Given the description of an element on the screen output the (x, y) to click on. 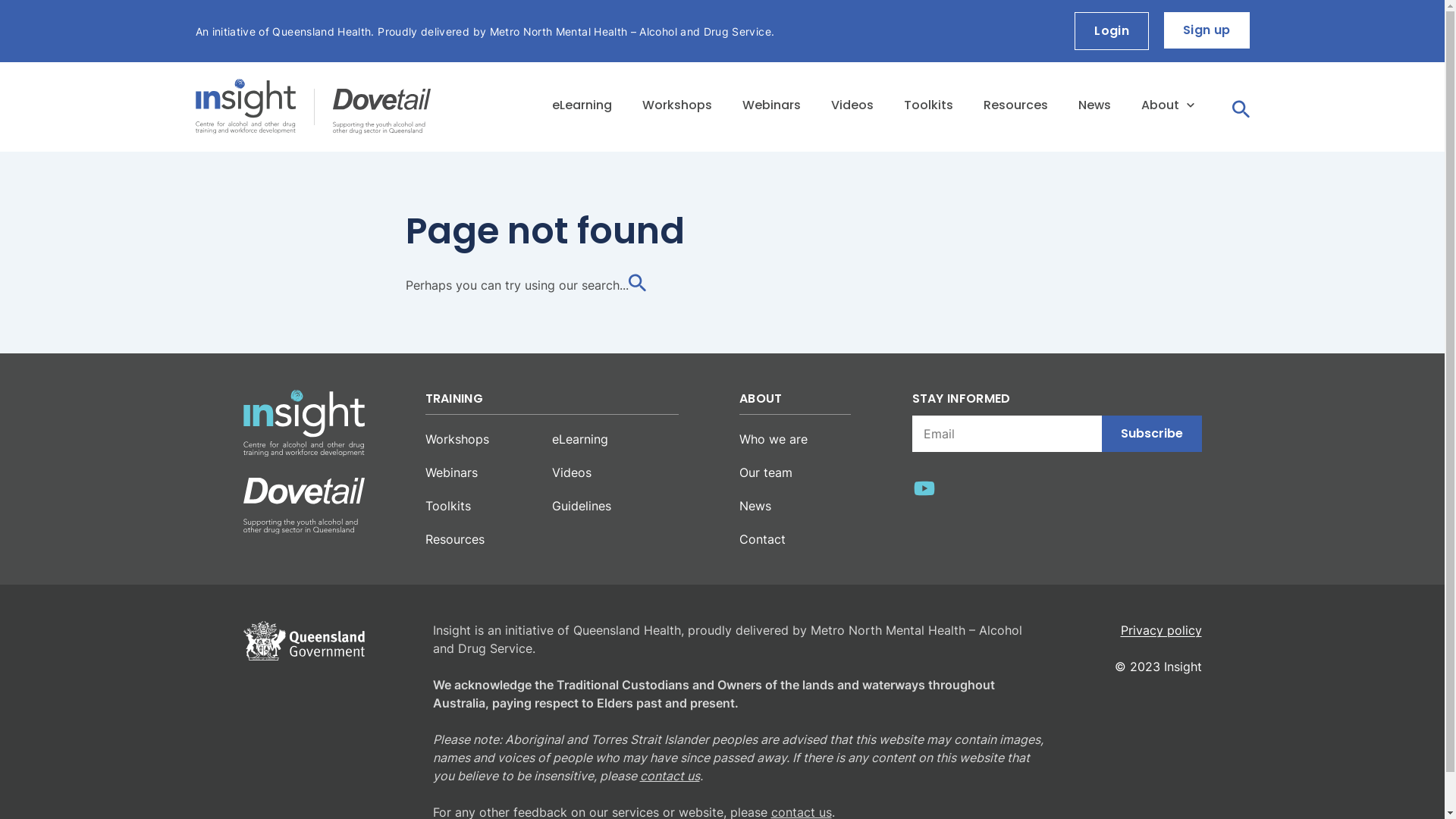
search... Element type: text (612, 284)
eLearning Element type: text (581, 106)
Resources Element type: text (453, 538)
Resources Element type: text (1014, 106)
Videos Element type: text (571, 472)
News Element type: text (755, 505)
Contact Element type: text (762, 538)
Workshops Element type: text (676, 106)
Guidelines Element type: text (581, 505)
Who we are Element type: text (773, 438)
News Element type: text (1094, 106)
Videos Element type: text (851, 106)
Toolkits Element type: text (928, 106)
Privacy policy Element type: text (1160, 629)
Workshops Element type: text (456, 438)
Youtube Element type: text (923, 490)
Our team Element type: text (765, 472)
eLearning Element type: text (580, 438)
Login Element type: text (1111, 31)
Subscribe Element type: text (1151, 433)
Toolkits Element type: text (447, 505)
Sign up Element type: text (1206, 30)
Webinars Element type: text (450, 472)
contact us Element type: text (669, 775)
About Element type: text (1166, 106)
Webinars Element type: text (770, 106)
